Given the description of an element on the screen output the (x, y) to click on. 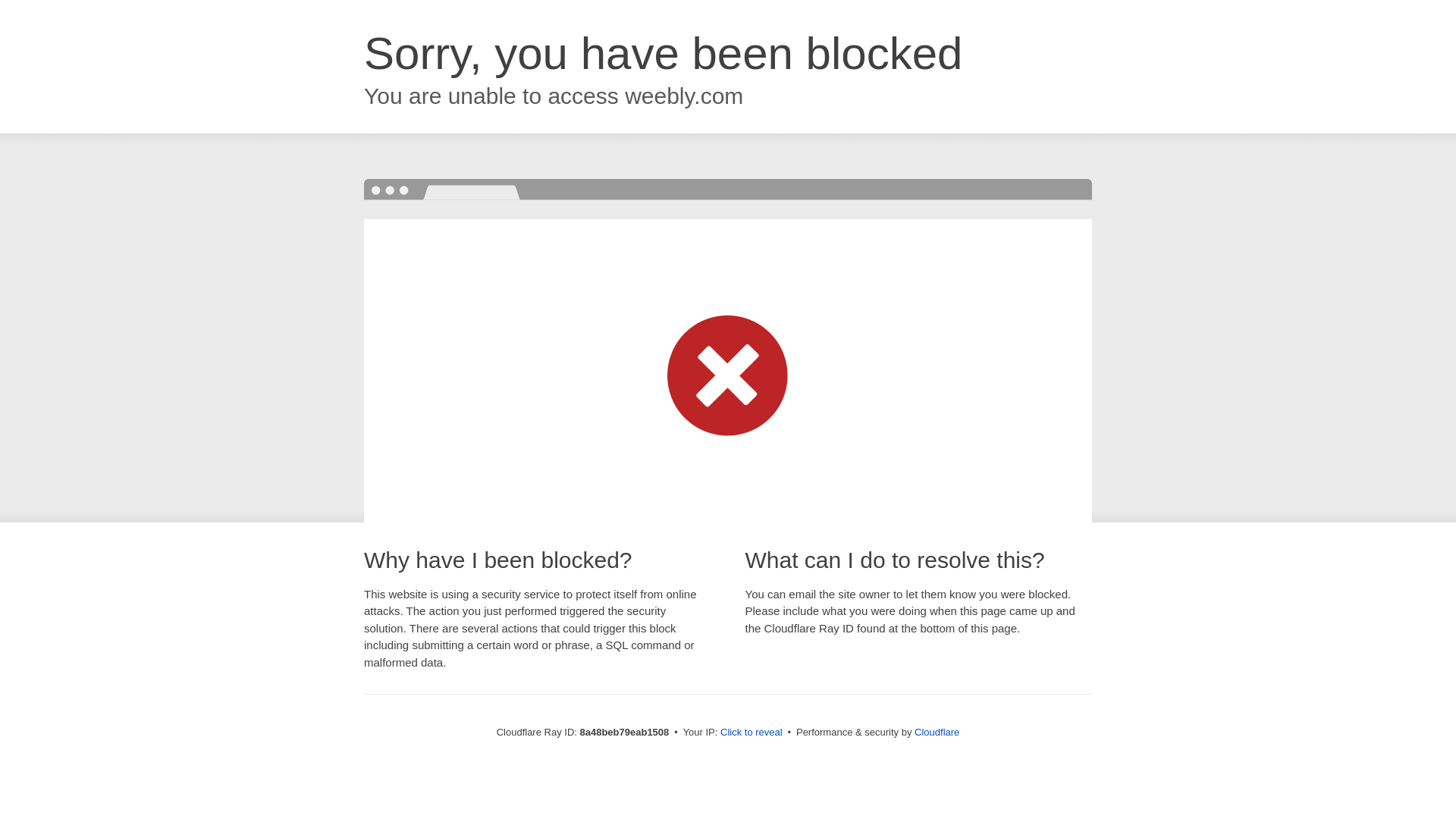
Cloudflare (936, 731)
Click to reveal (751, 732)
